Given the description of an element on the screen output the (x, y) to click on. 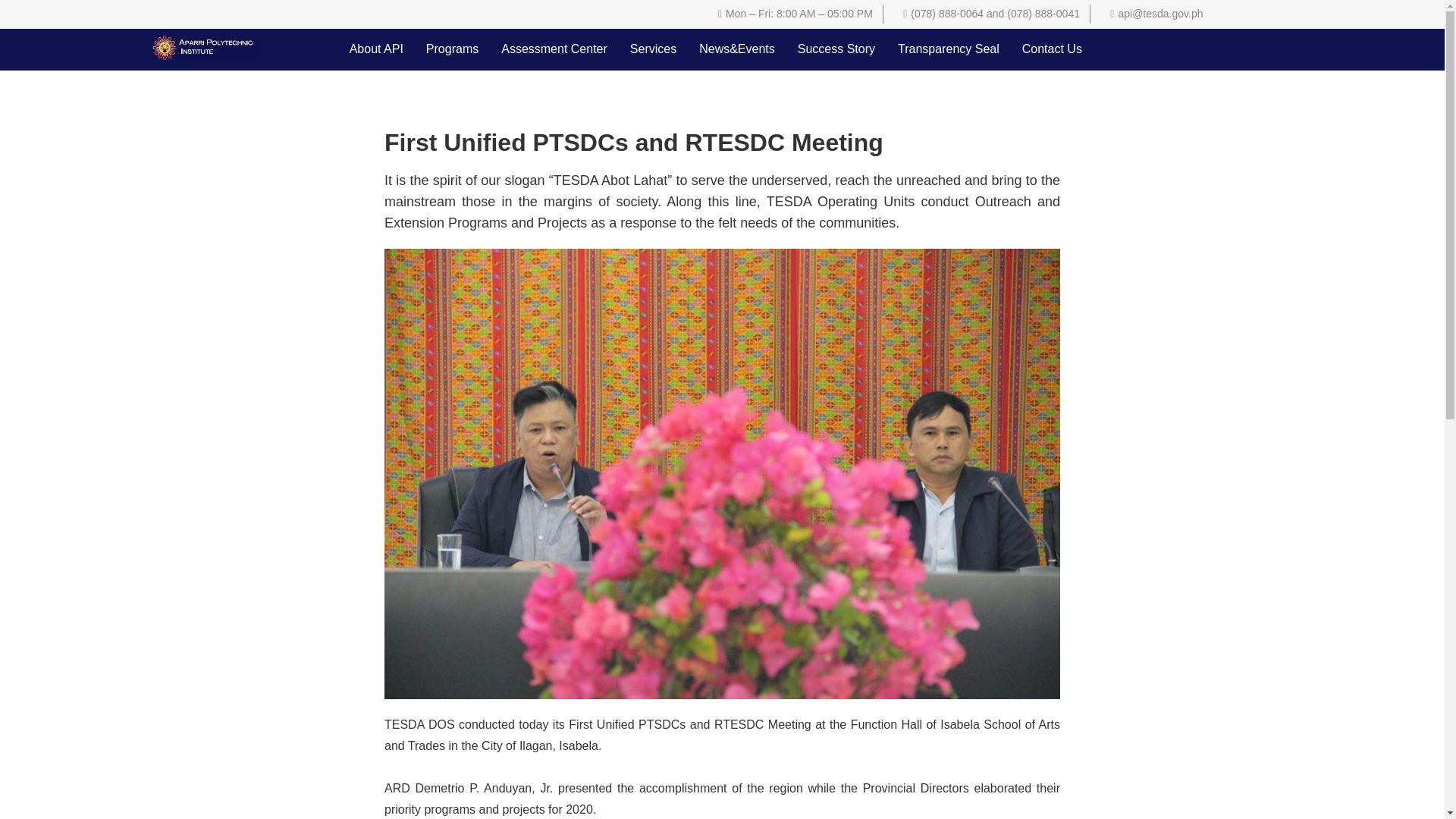
Services (652, 48)
Success Story (836, 48)
Programs (451, 48)
Transparency Seal (948, 48)
Assessment Center (553, 48)
Contact Us (1051, 48)
About API (375, 48)
